Given the description of an element on the screen output the (x, y) to click on. 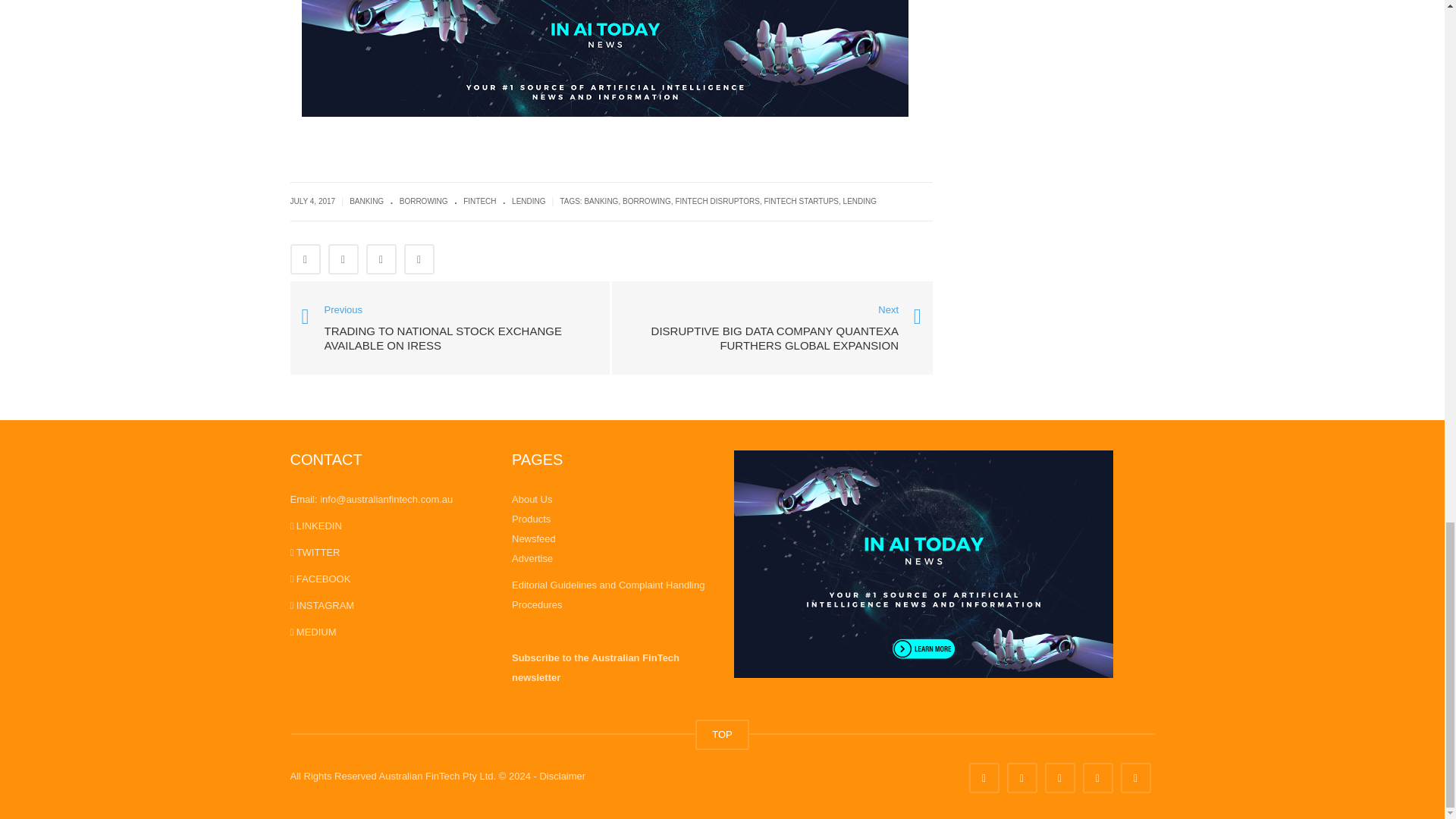
FINTECH (479, 201)
Share on Twitter (342, 259)
Email this (418, 259)
BANKING (366, 201)
Share on Facebook (304, 259)
BORROWING (423, 201)
Trading to National Stock Exchange available on IRESS (449, 326)
Share on LinkedIn (380, 259)
Advertisement (1054, 40)
